Given the description of an element on the screen output the (x, y) to click on. 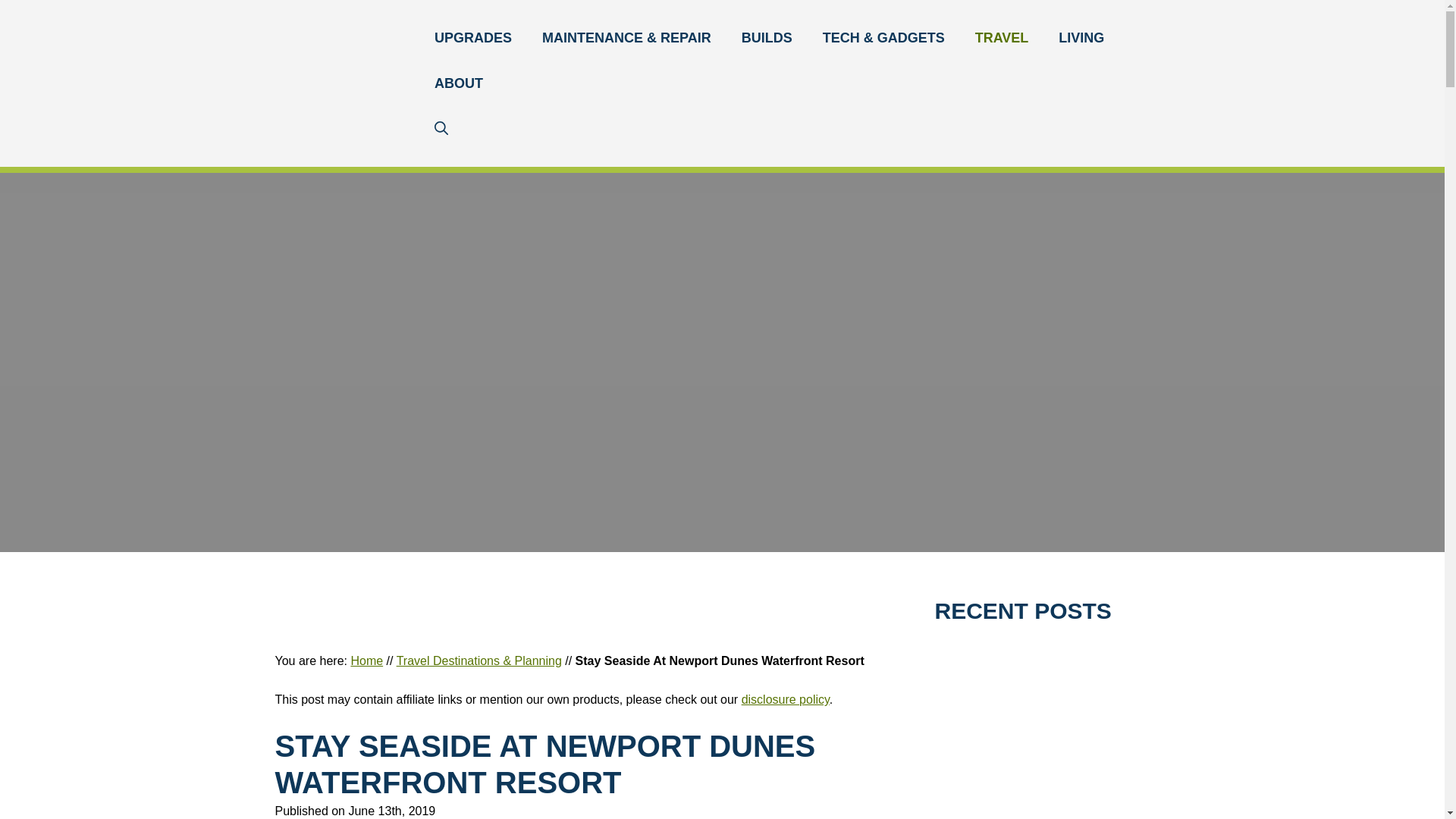
disclosure policy (785, 698)
BUILDS (767, 37)
TRAVEL (1001, 37)
LIVING (1081, 37)
ABOUT (458, 83)
UPGRADES (473, 37)
Home (366, 660)
